Given the description of an element on the screen output the (x, y) to click on. 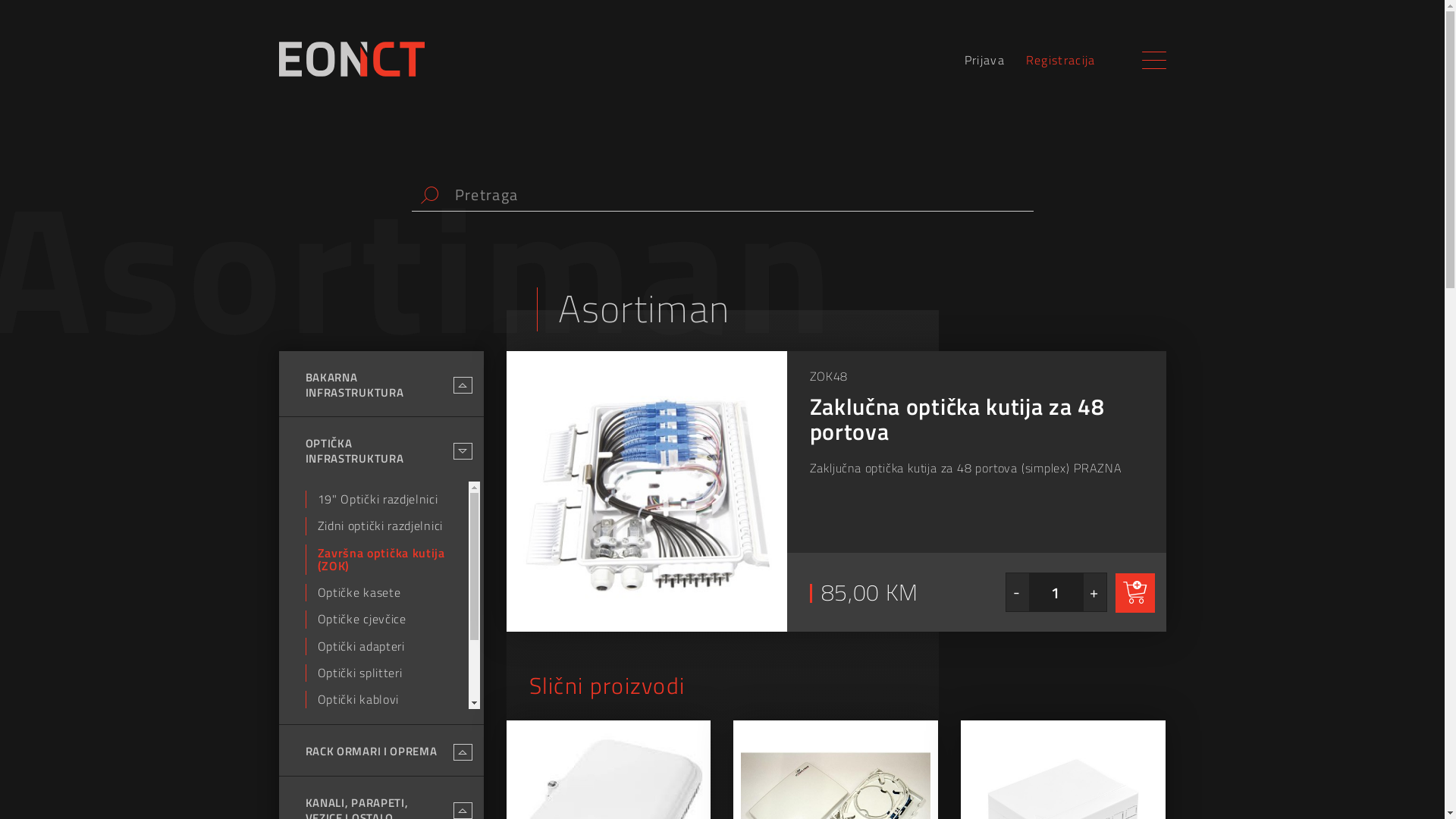
BAKARNA INFRASTRUKTURA Element type: text (374, 385)
Registracija Element type: text (1060, 59)
RACK ORMARI I OPREMA Element type: text (370, 751)
Prijava Element type: text (984, 59)
